Given the description of an element on the screen output the (x, y) to click on. 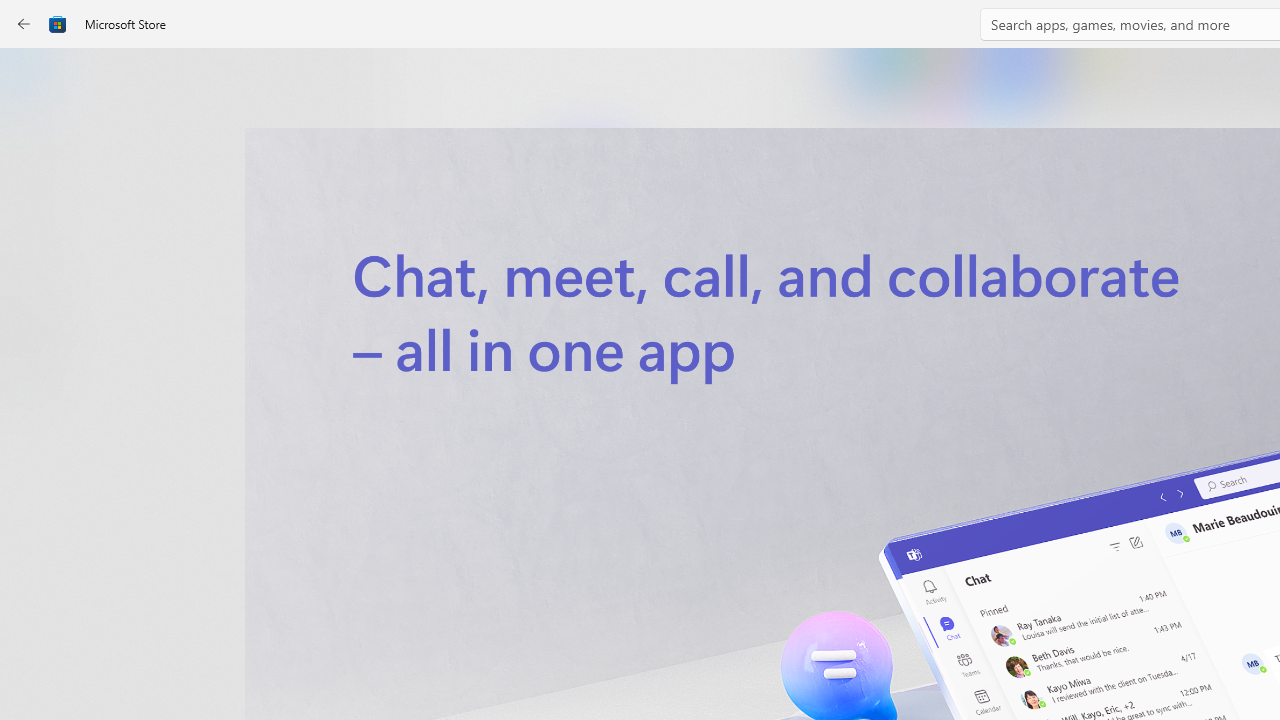
Home (35, 79)
Arcade (35, 265)
Show more (854, 428)
Sign in to review (882, 667)
Entertainment (35, 327)
Gaming (35, 203)
Apps (35, 141)
AI Hub (35, 390)
Back (24, 24)
Microsoft Corporation (673, 333)
2.6 stars. Click to skip to ratings and reviews (542, 543)
Class: Image (58, 24)
Install (586, 428)
